Given the description of an element on the screen output the (x, y) to click on. 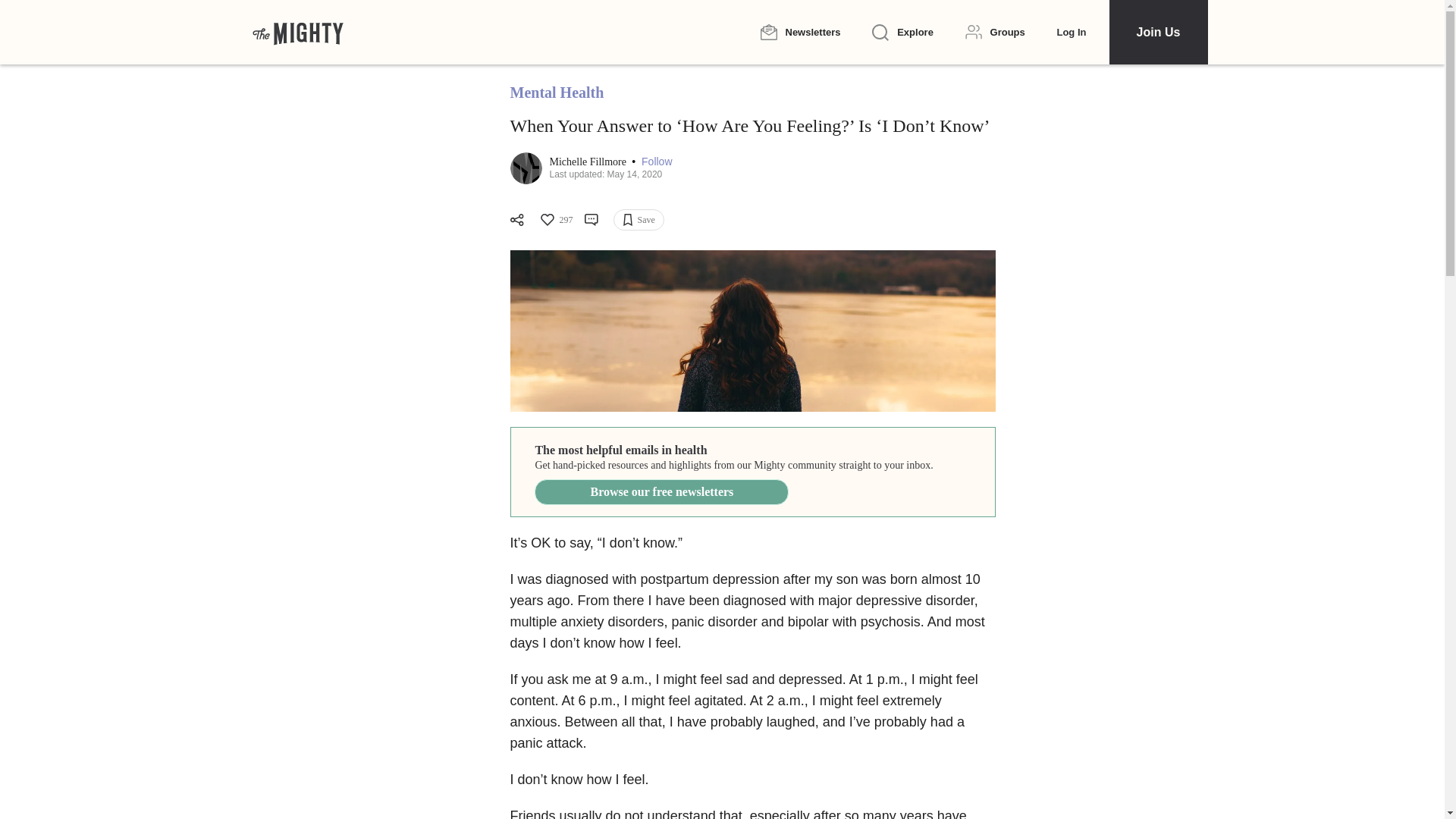
Michelle Fillmore (588, 161)
Follow (656, 161)
Mental Health (556, 92)
Join Us (1157, 32)
Explore (902, 32)
The Mighty (296, 32)
Log In (1071, 31)
Browse our free newsletters (661, 492)
297 (555, 219)
Groups (995, 32)
Newsletters (800, 31)
Mental Illness: I Don't Know How I Feel Most Days (751, 330)
Save (637, 219)
